Given the description of an element on the screen output the (x, y) to click on. 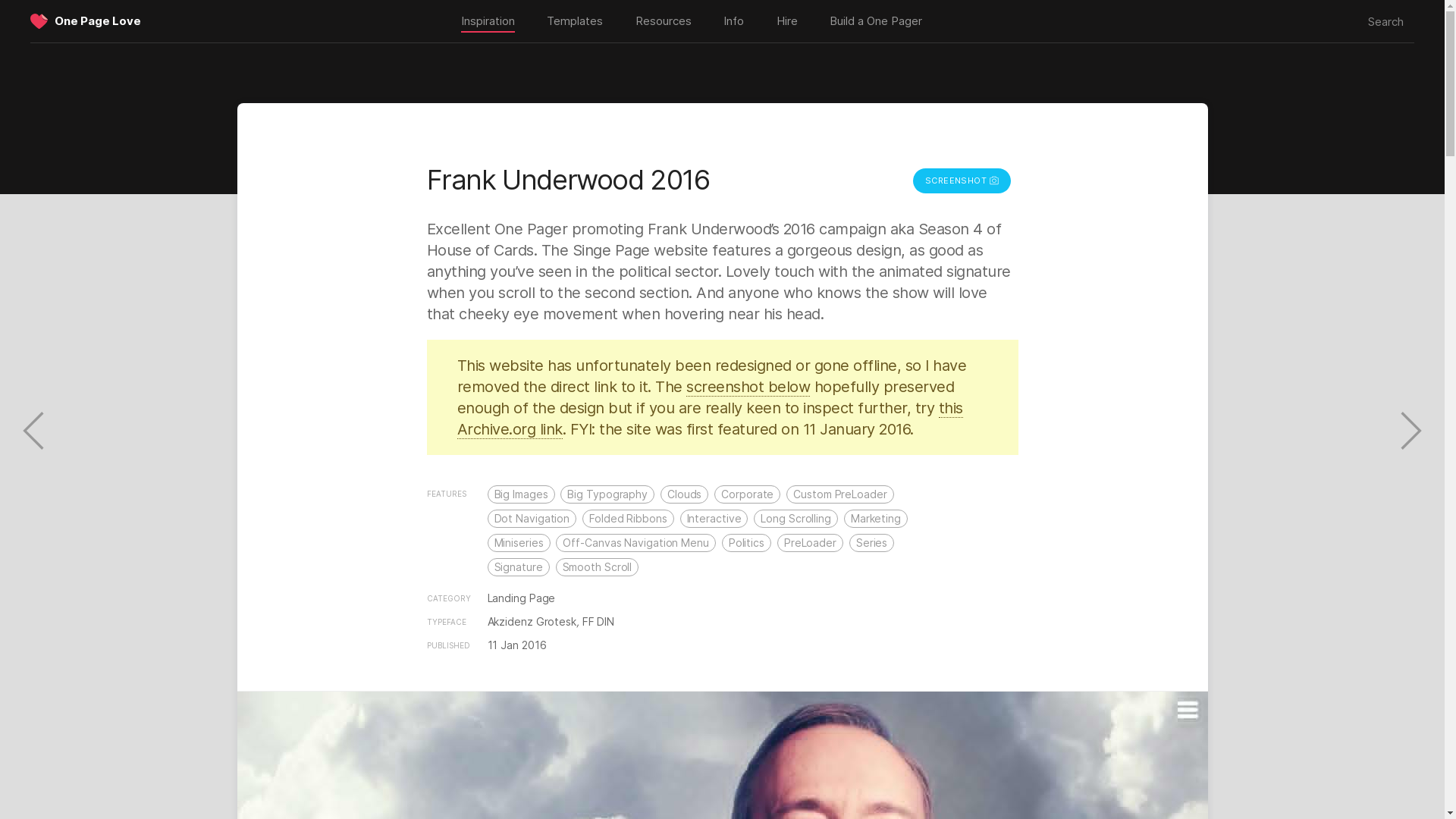
One Page website inspiration gallery (487, 22)
Go to the One Page Love home page (98, 20)
One Page Love (98, 20)
Go to the One Page Love home page (39, 22)
Find One Page website templates (573, 21)
Inspiration (487, 22)
